Given the description of an element on the screen output the (x, y) to click on. 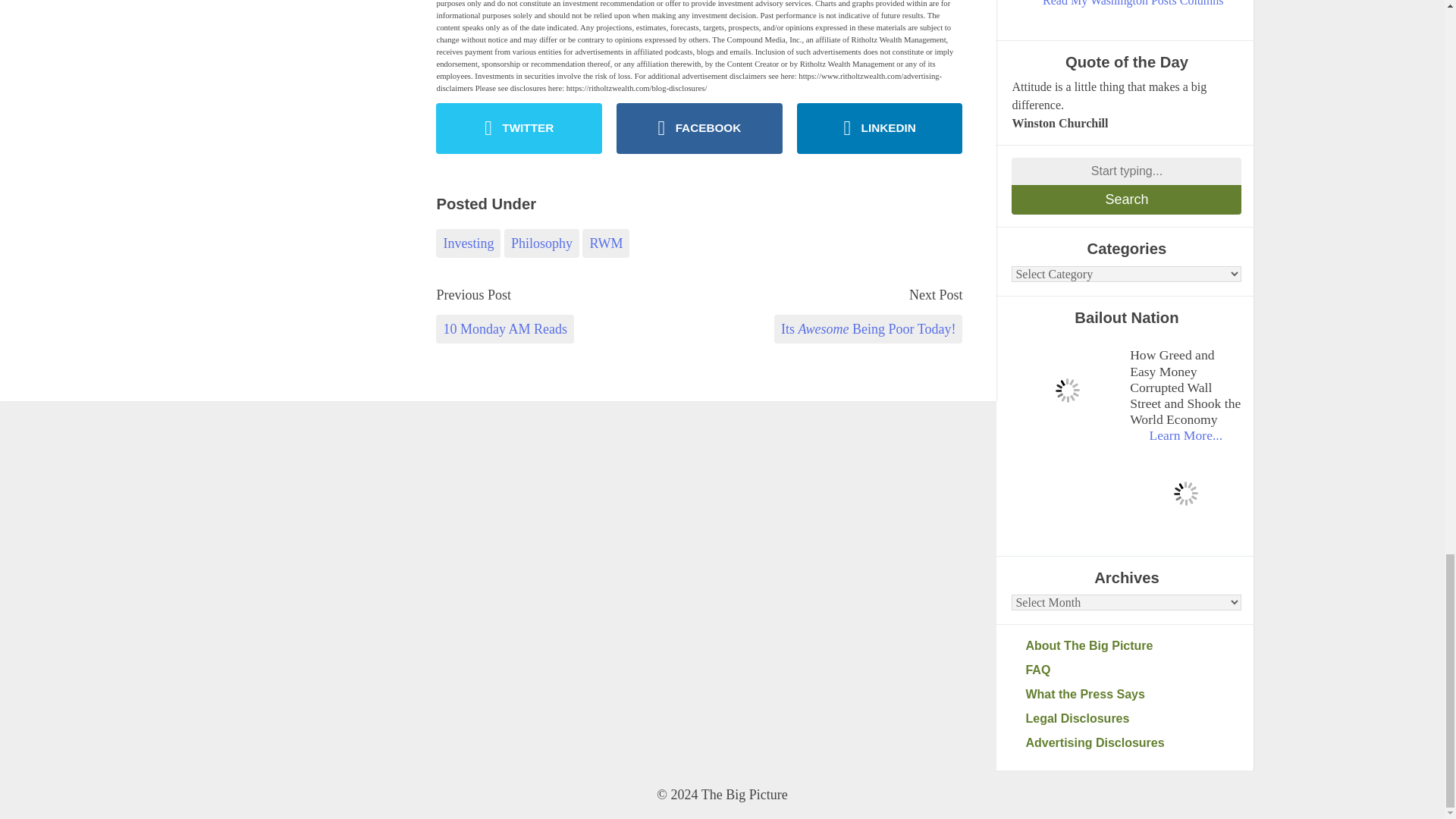
Search (1126, 199)
Investing (467, 243)
Search (1126, 199)
Learn More... (1185, 435)
Bailout Nation (1066, 389)
Philosophy (541, 243)
10 Monday AM Reads (504, 328)
FAQ (1133, 669)
TWITTER (518, 128)
RWM (605, 243)
